Given the description of an element on the screen output the (x, y) to click on. 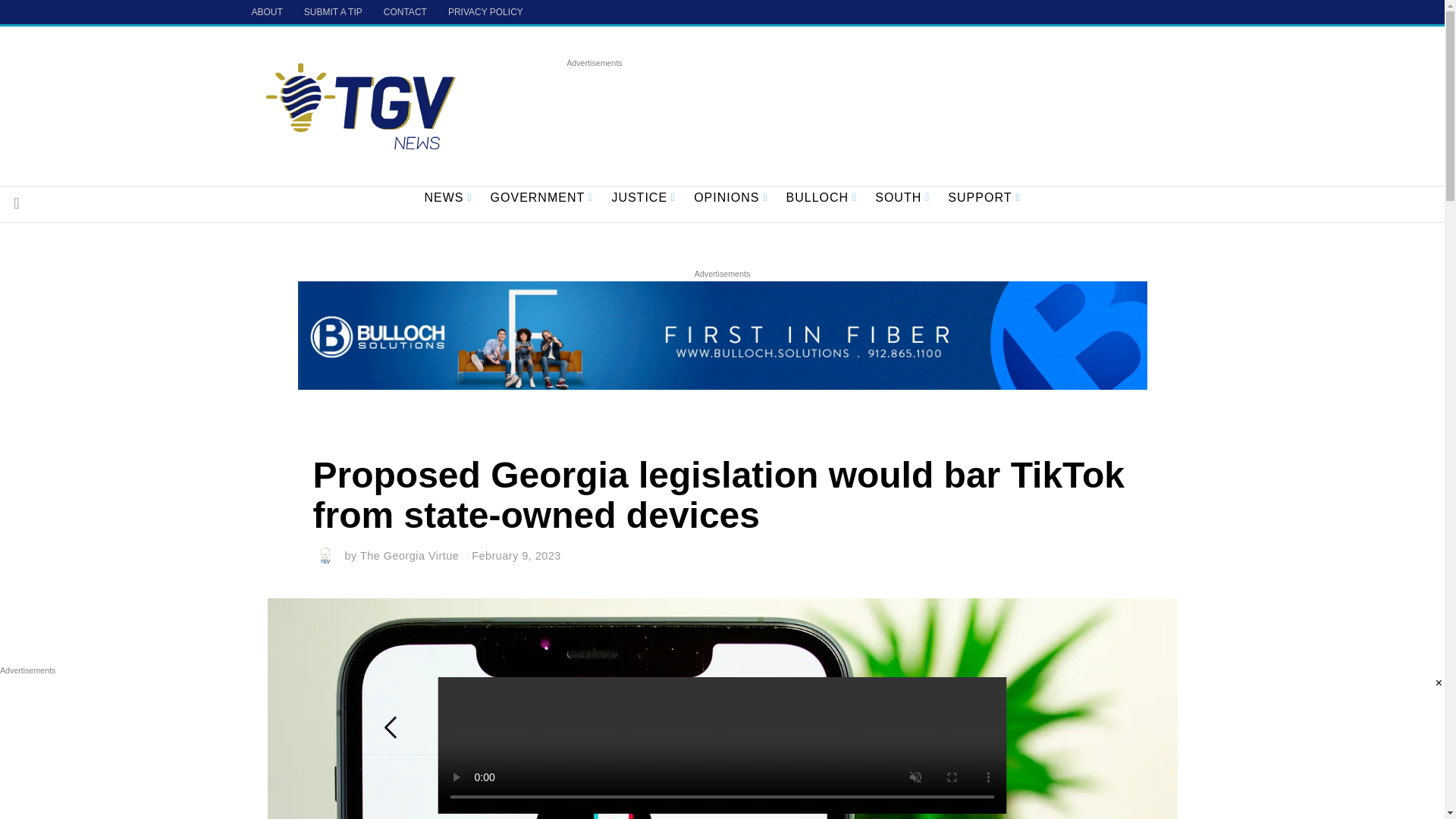
SUPPORT (984, 197)
SOUTH (902, 197)
JUSTICE (643, 197)
Advertisement (842, 103)
CONTACT (405, 12)
OPINIONS (730, 197)
NEWS (447, 197)
GOVERNMENT (541, 197)
SUBMIT A TIP (333, 12)
PRIVACY POLICY (486, 12)
BULLOCH (821, 197)
Go (16, 203)
tgvlogoheader.png (360, 105)
ABOUT (267, 12)
